Given the description of an element on the screen output the (x, y) to click on. 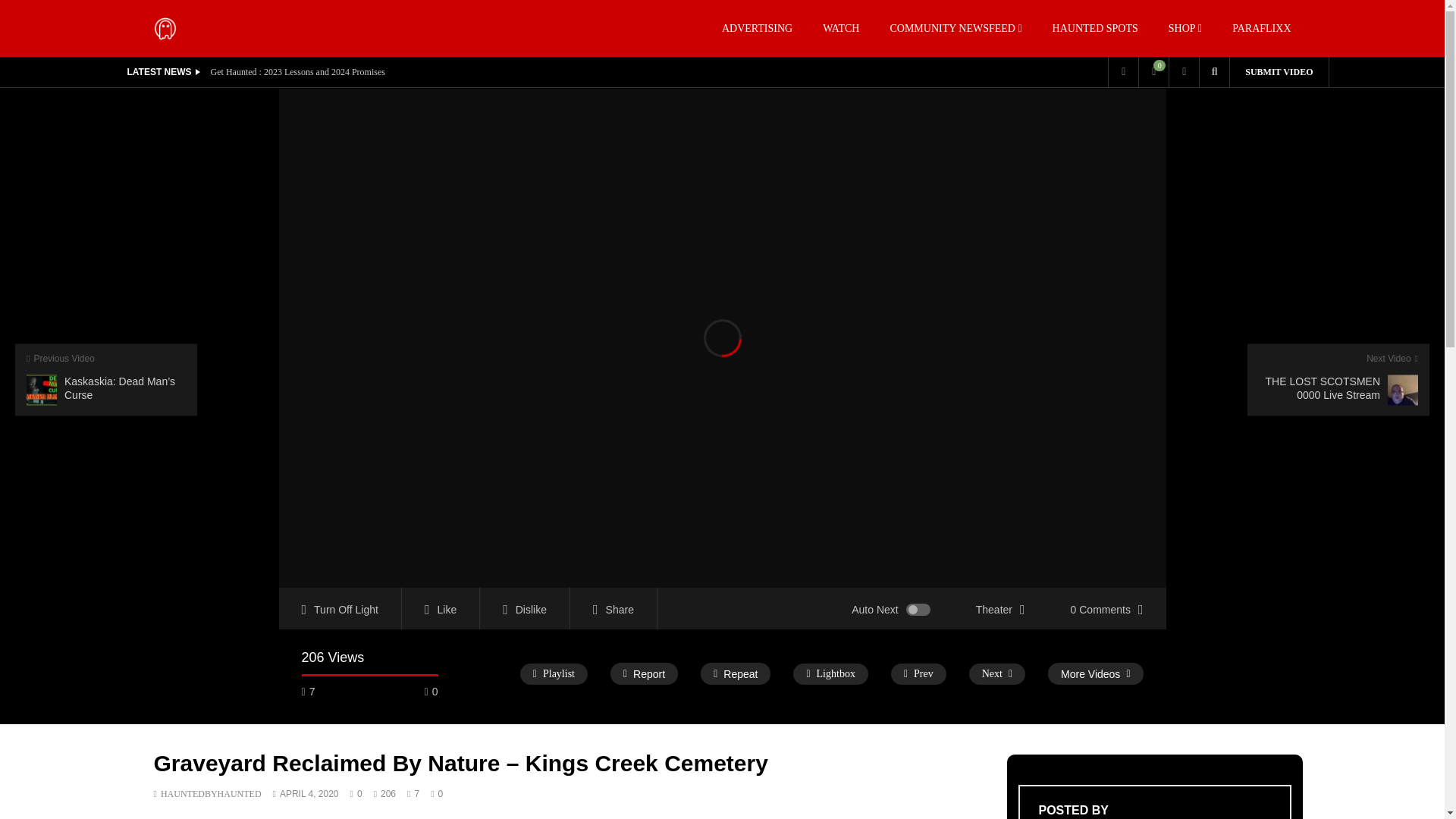
SUBMIT VIDEO (1277, 71)
HAUNTED SPOTS (1094, 28)
0 (1153, 71)
SHOP (1185, 28)
PARAFLIXX (1261, 28)
Search (1191, 101)
ADVERTISING (757, 28)
WATCH (841, 28)
0 Comments (1107, 608)
Get Haunted : 2023 Lessons and 2024 Promises (298, 71)
COMMUNITY NEWSFEED (955, 28)
Get Haunted : 2023 Lessons and 2024 Promises (298, 71)
Parapost Network (164, 27)
